Given the description of an element on the screen output the (x, y) to click on. 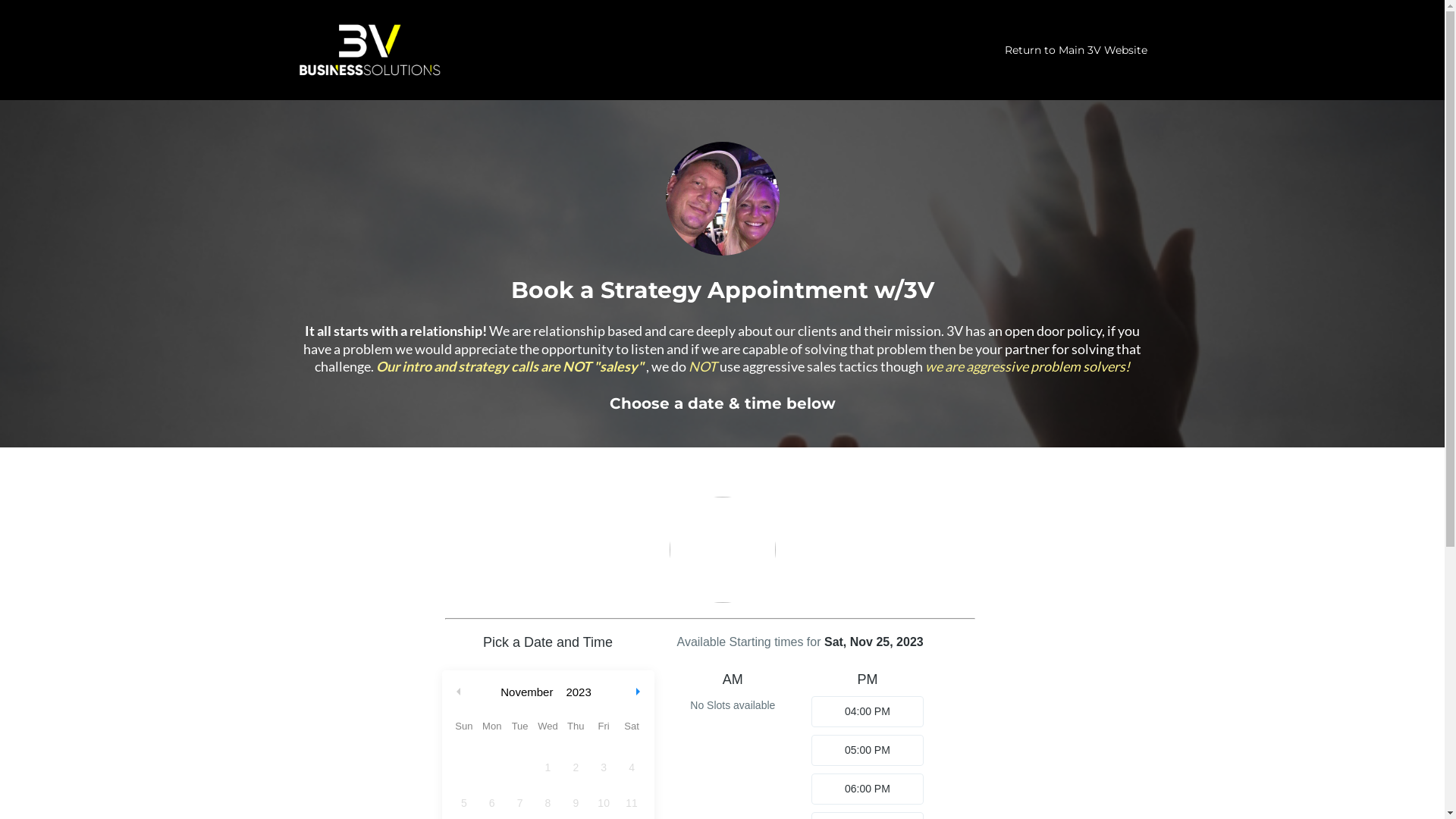
Next month Element type: text (639, 691)
Previous month Element type: text (458, 691)
November Element type: text (526, 691)
2023 Element type: text (578, 691)
Return to Main 3V Website Element type: text (1076, 49)
